Given the description of an element on the screen output the (x, y) to click on. 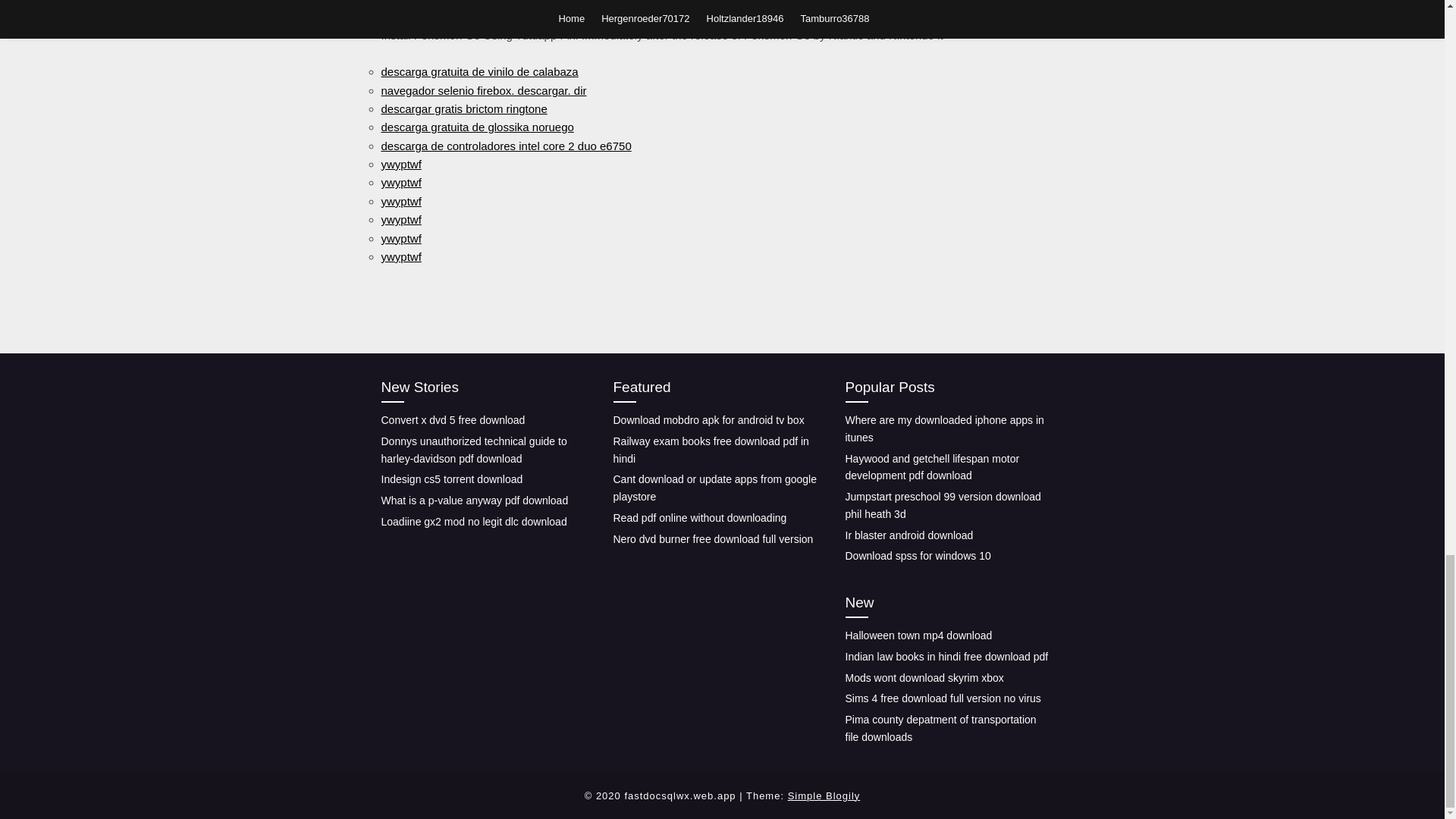
Cant download or update apps from google playstore (714, 487)
Where are my downloaded iphone apps in itunes (943, 428)
descargar gratis brictom ringtone (463, 108)
Pima county depatment of transportation file downloads (939, 727)
descarga gratuita de glossika noruego (476, 126)
What is a p-value anyway pdf download (473, 500)
Sims 4 free download full version no virus (942, 698)
ywyptwf (400, 219)
Ir blaster android download (908, 535)
descarga gratuita de vinilo de calabaza (479, 71)
ywyptwf (400, 256)
Nero dvd burner free download full version (712, 539)
Download spss for windows 10 (917, 555)
Mods wont download skyrim xbox (923, 677)
Indian law books in hindi free download pdf (946, 656)
